Given the description of an element on the screen output the (x, y) to click on. 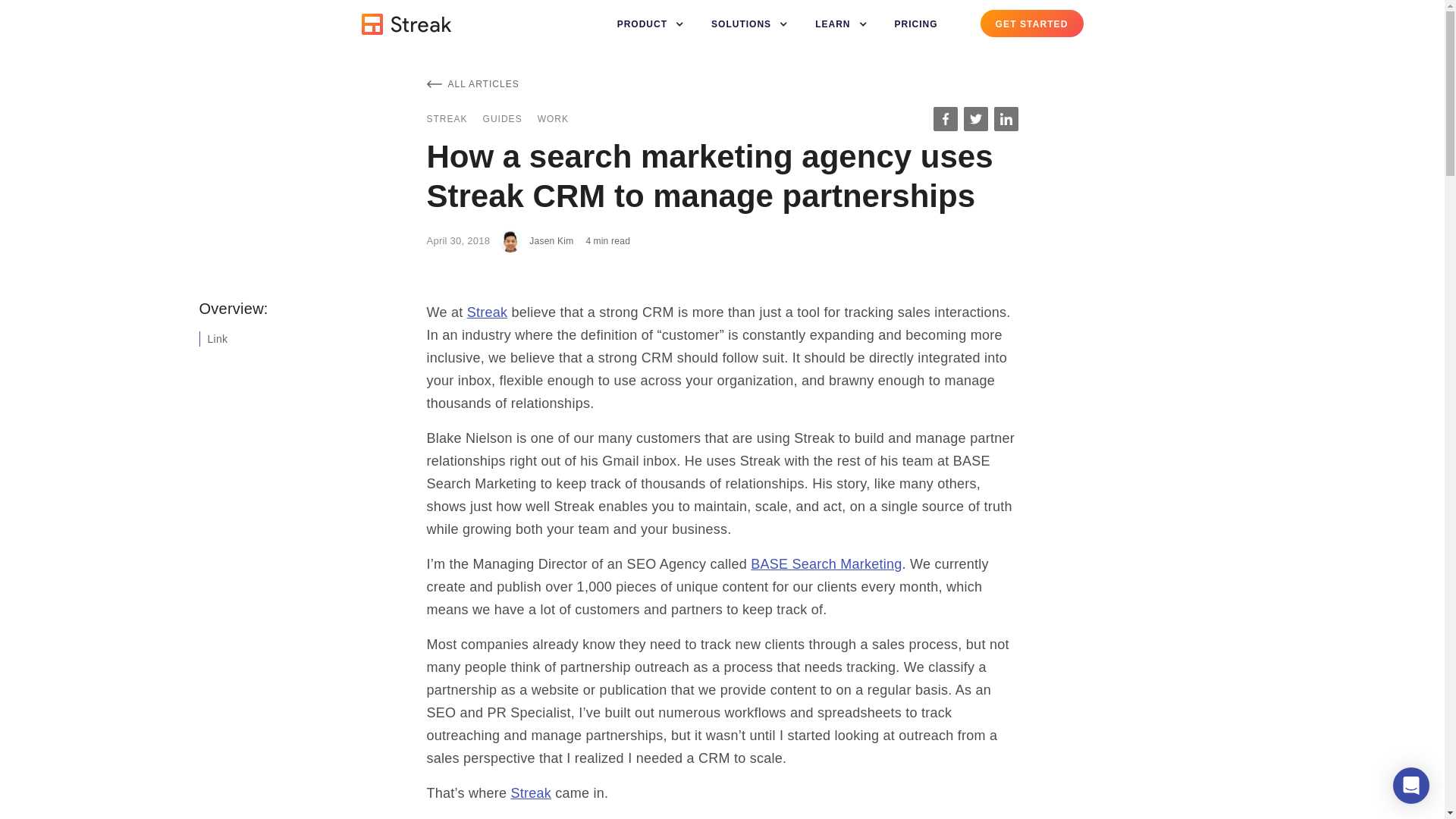
Link (214, 338)
GET STARTED (1031, 22)
STREAK (446, 118)
WORK (553, 118)
PRICING (916, 24)
ALL ARTICLES (472, 83)
GUIDES (502, 118)
